Given the description of an element on the screen output the (x, y) to click on. 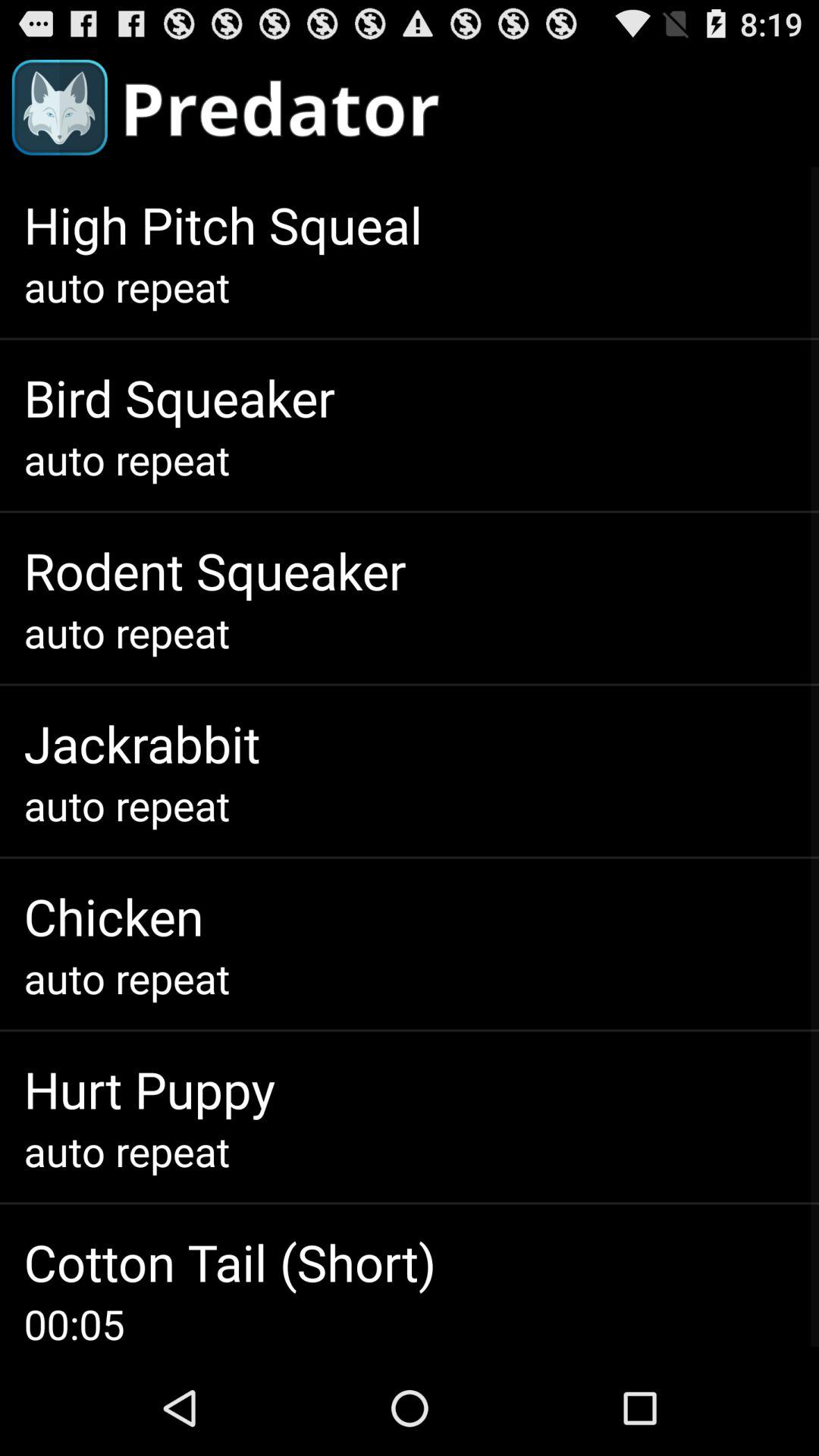
press the rodent squeaker app (214, 570)
